Given the description of an element on the screen output the (x, y) to click on. 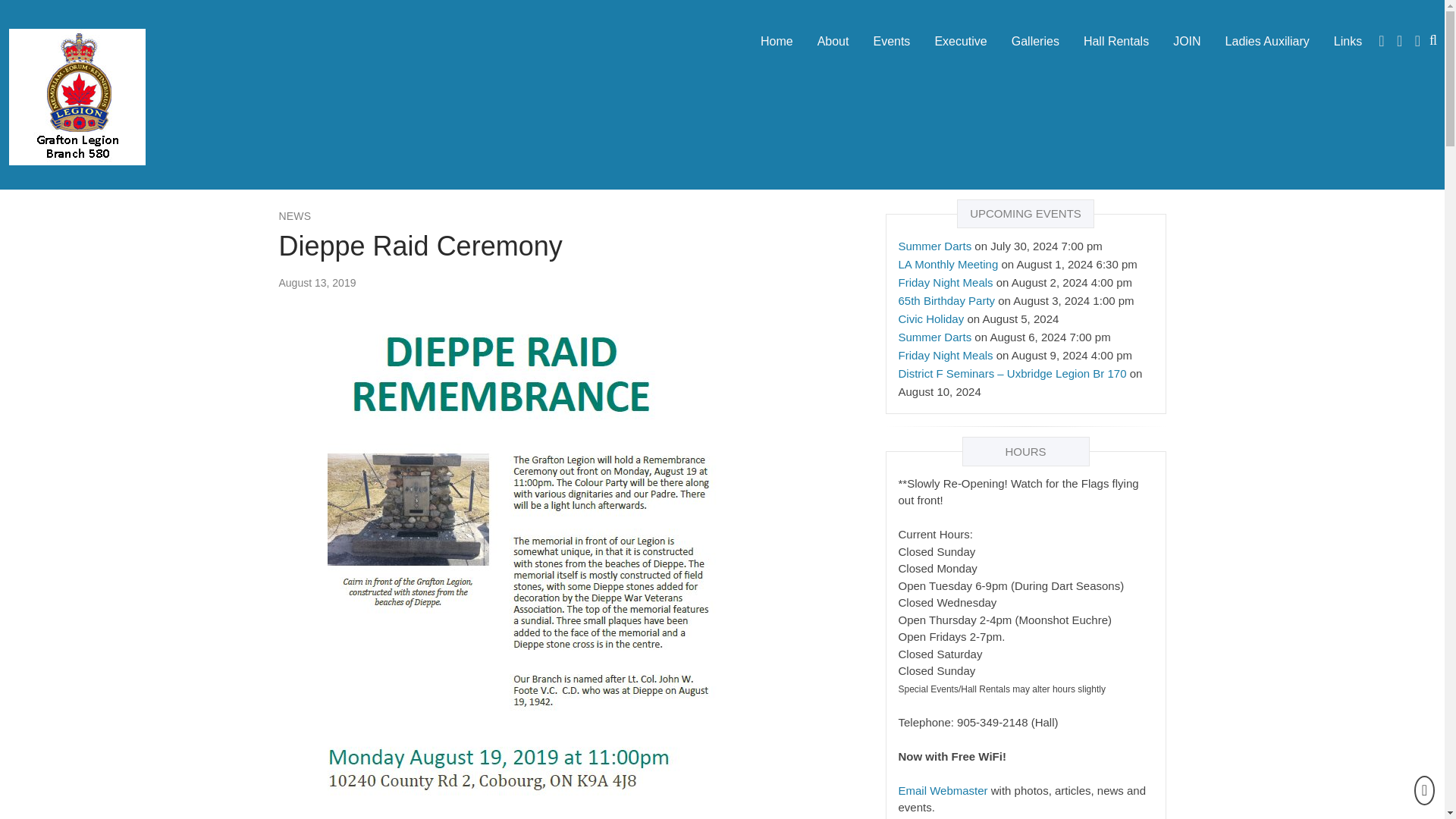
Links (1348, 41)
JOIN (1186, 41)
About (833, 41)
Executive (959, 41)
Events (890, 41)
Ladies Auxiliary (1267, 41)
Galleries (1034, 41)
Home (776, 41)
Hall Rentals (1115, 41)
NEWS (295, 215)
